Given the description of an element on the screen output the (x, y) to click on. 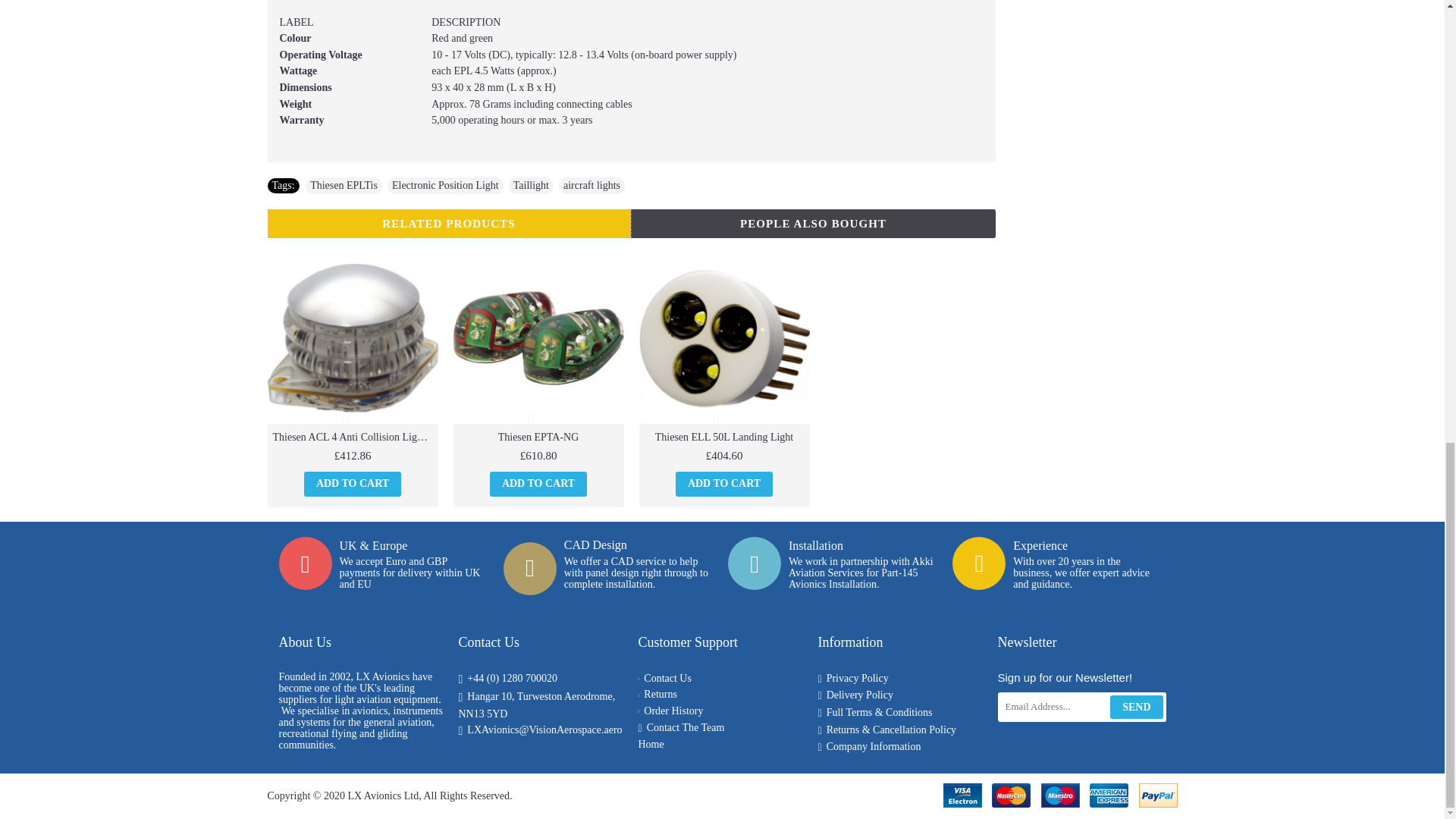
Thiesen ELL 50L Landing Light (724, 338)
Thiesen ACL 4 Anti Collision Light  with FLARM interface (352, 338)
Thiesen EPTA-NG (538, 338)
